Given the description of an element on the screen output the (x, y) to click on. 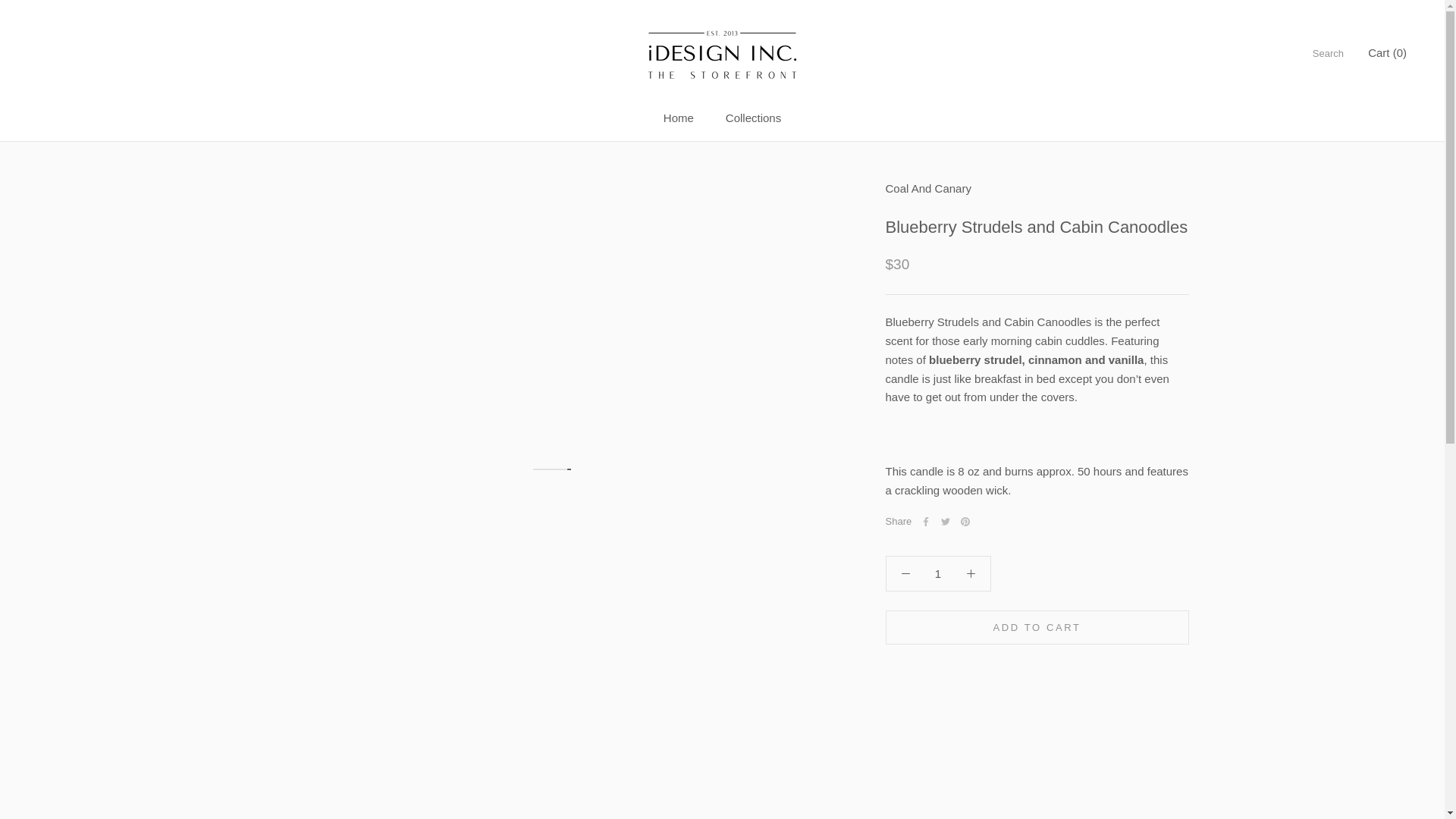
Search (1328, 53)
1 (938, 573)
ADD TO CART (1037, 627)
